Given the description of an element on the screen output the (x, y) to click on. 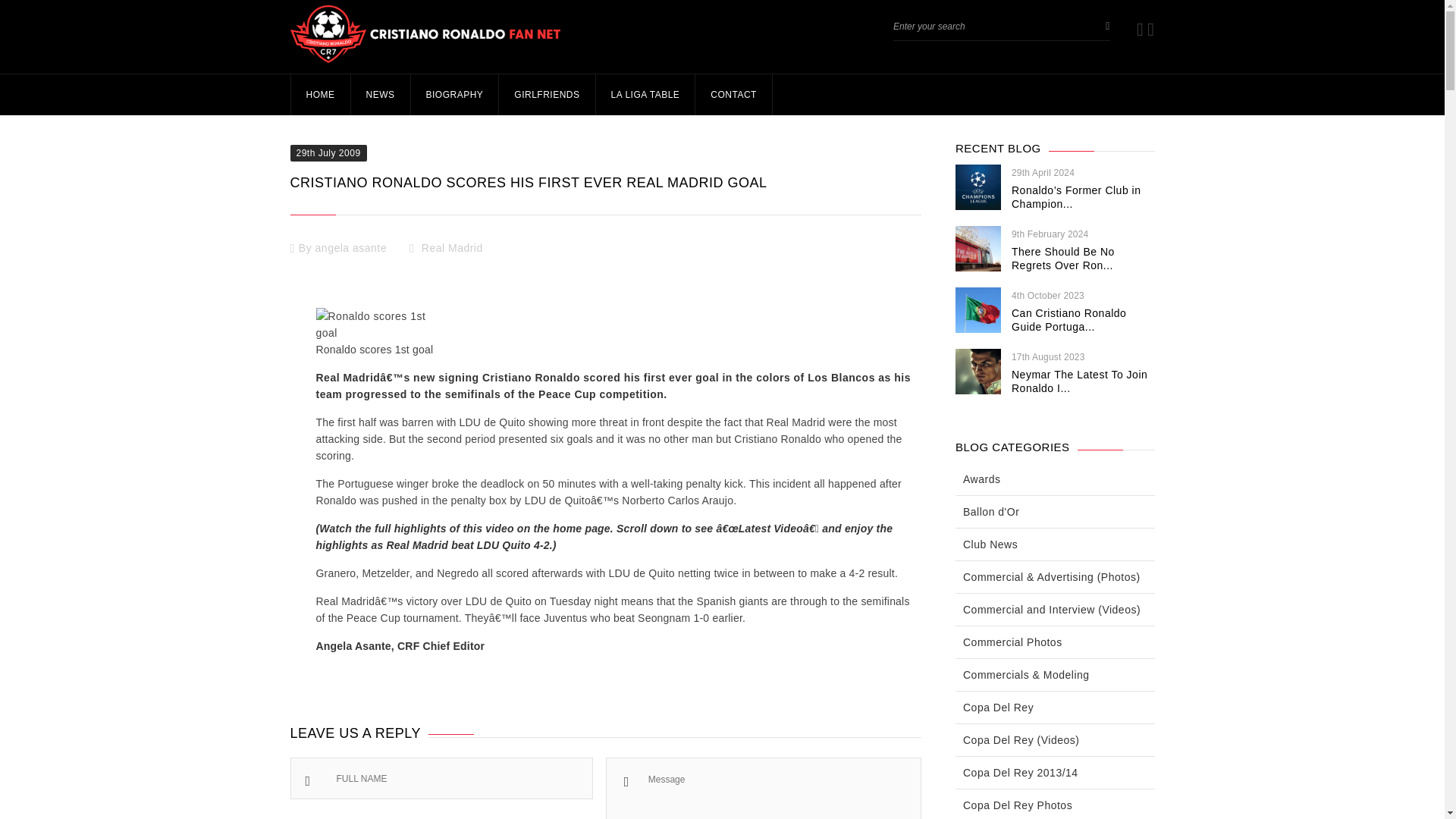
GIRLFRIENDS (545, 94)
LA LIGA TABLE (645, 94)
CONTACT (733, 94)
Copa Del Rey Photos (1016, 805)
Awards (981, 478)
angela asante (351, 247)
Neymar The Latest To Join Ronaldo I... (1079, 380)
NEWS (380, 94)
There Should Be No Regrets Over Ron... (1063, 258)
BIOGRAPHY (453, 94)
